Given the description of an element on the screen output the (x, y) to click on. 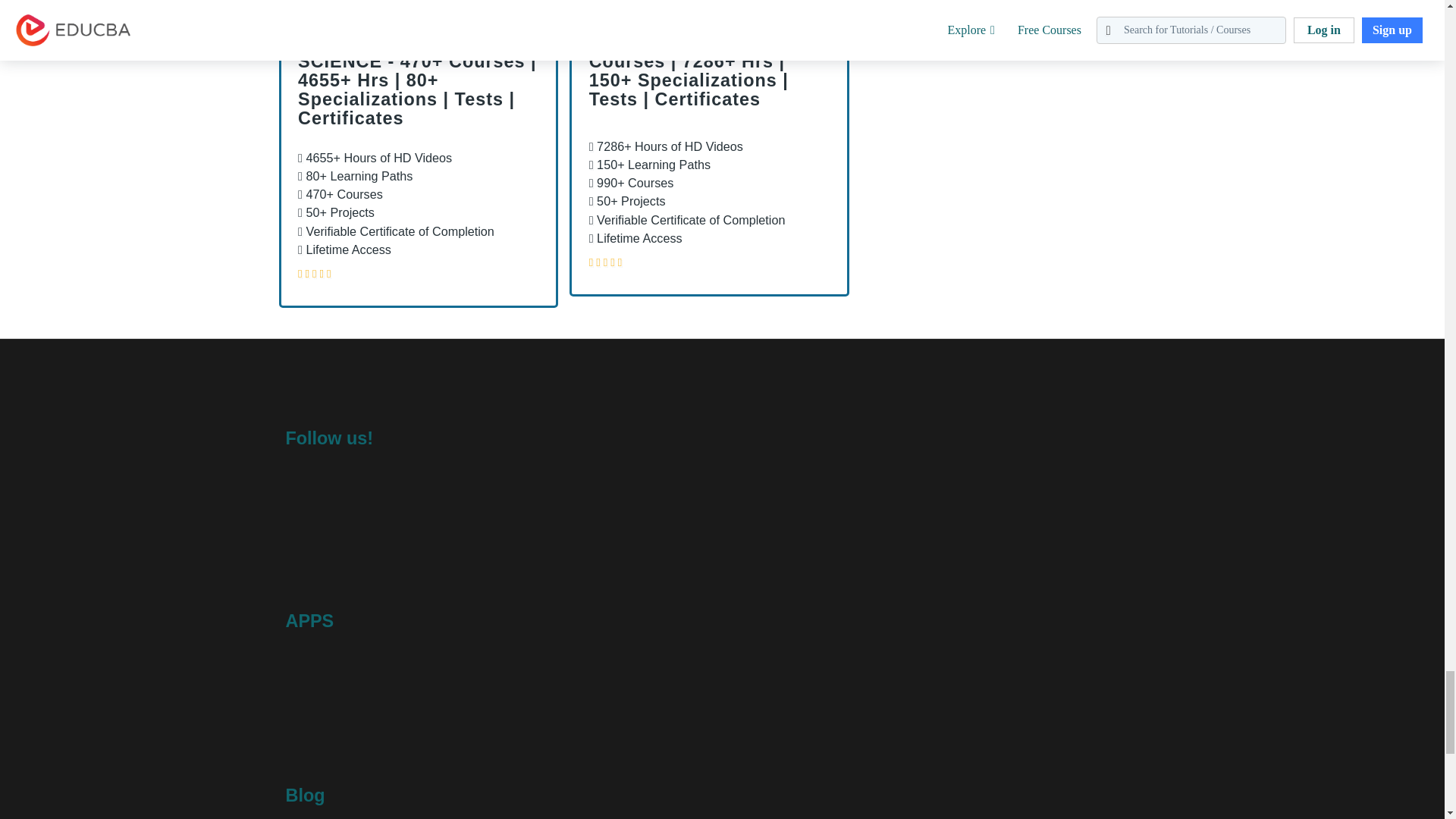
EDUCBA Youtube (300, 545)
EDUCBA iOS App (512, 705)
EDUCBA Instagram (408, 508)
EDUCBA Udemy (371, 545)
EDUCBA LinkedIN (371, 508)
EDUCBA Twitter (336, 508)
EDUCBA Facebook (300, 508)
EDUCBA Coursera (336, 545)
EDUCBA Android App (360, 705)
